Given the description of an element on the screen output the (x, y) to click on. 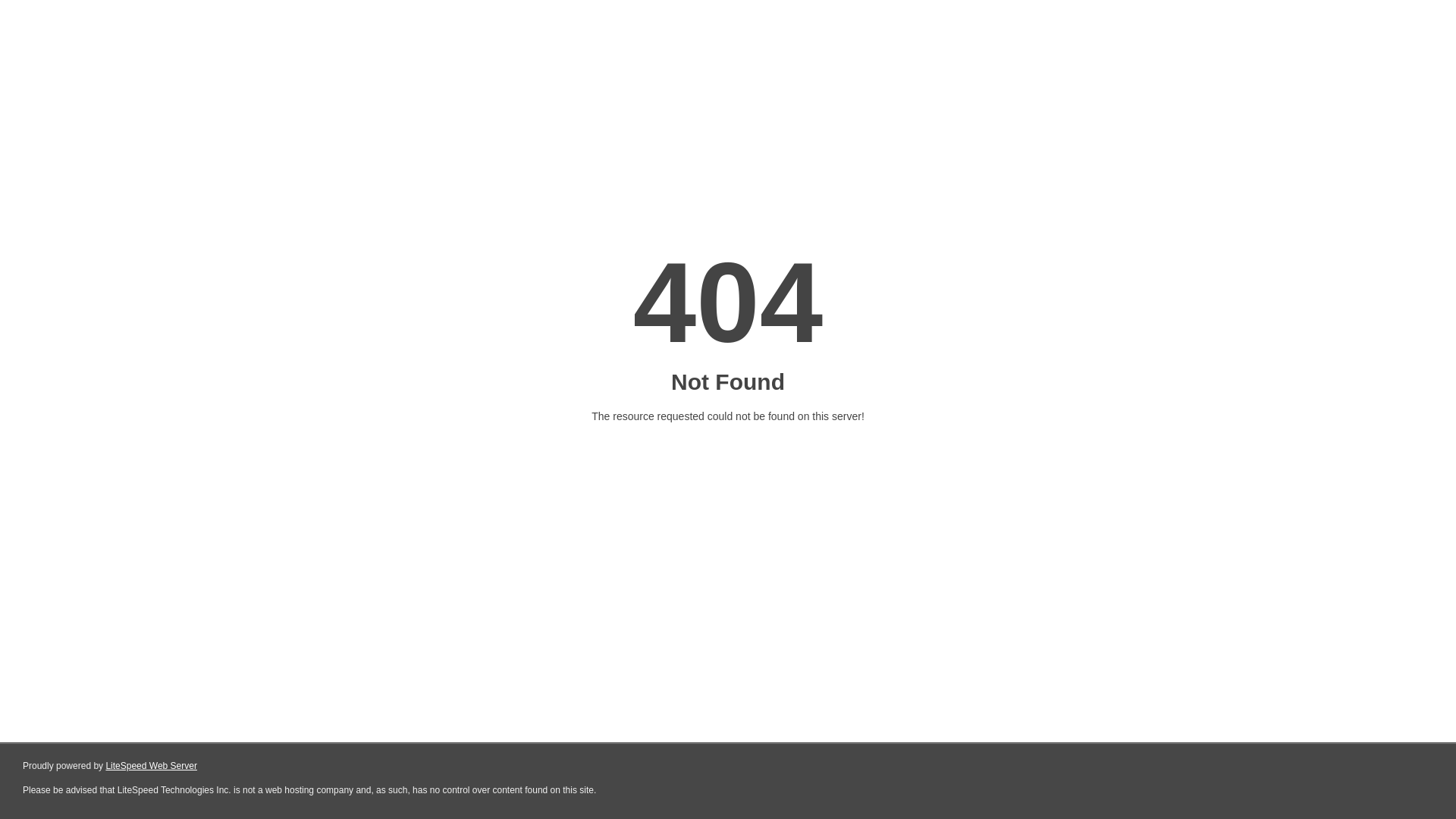
LiteSpeed Web Server Element type: text (151, 765)
